Given the description of an element on the screen output the (x, y) to click on. 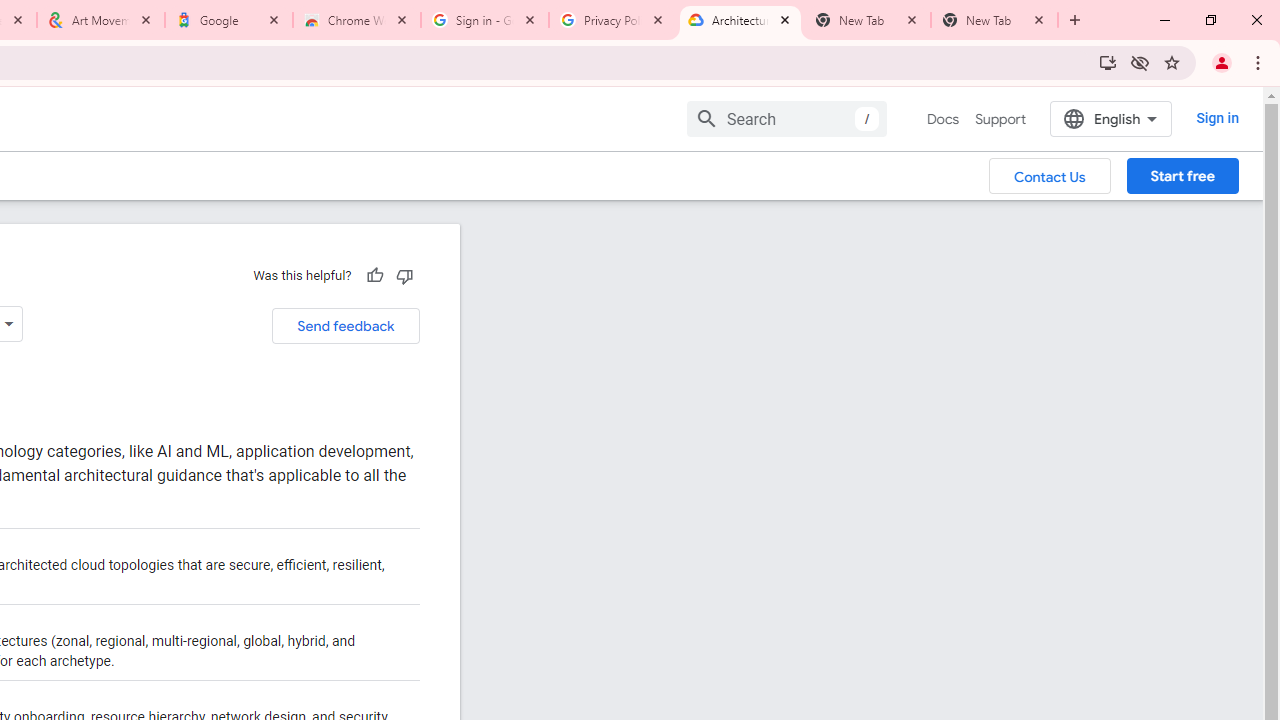
Docs, selected (942, 119)
Not helpful (404, 275)
Start free (1182, 175)
New Tab (994, 20)
Contact Us (1050, 175)
Sign in - Google Accounts (485, 20)
Chrome Web Store - Color themes by Chrome (357, 20)
